Given the description of an element on the screen output the (x, y) to click on. 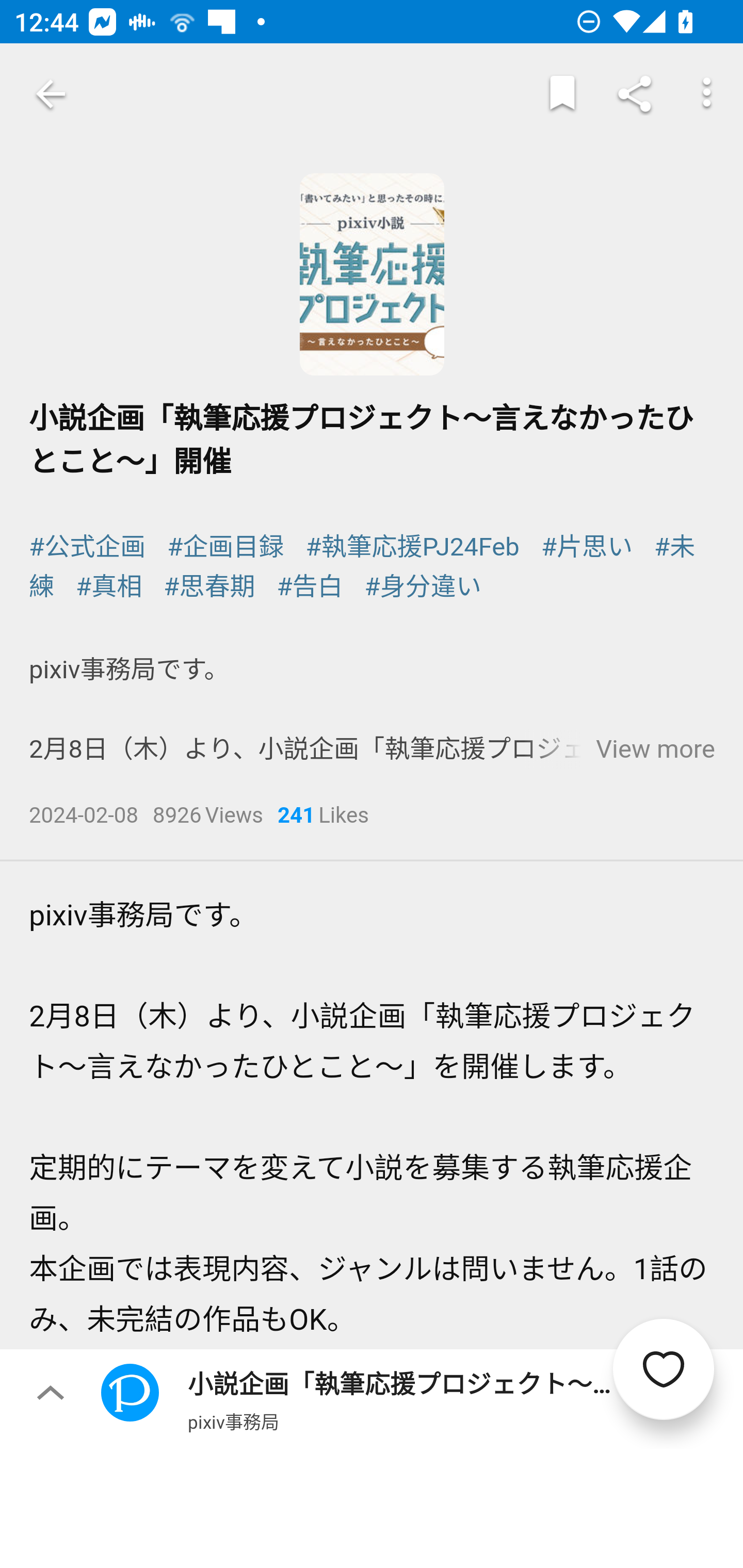
Navigate up (50, 93)
Markers (562, 93)
Share (634, 93)
More options (706, 93)
#公式企画 (87, 545)
#企画目録 (225, 545)
#執筆応援PJ24Feb (412, 545)
#片思い (586, 545)
#真相 (108, 586)
#思春期 (209, 586)
#告白 (310, 586)
#身分違い (422, 586)
View more (654, 749)
241Likes (323, 816)
pixiv事務局 (233, 1421)
